Given the description of an element on the screen output the (x, y) to click on. 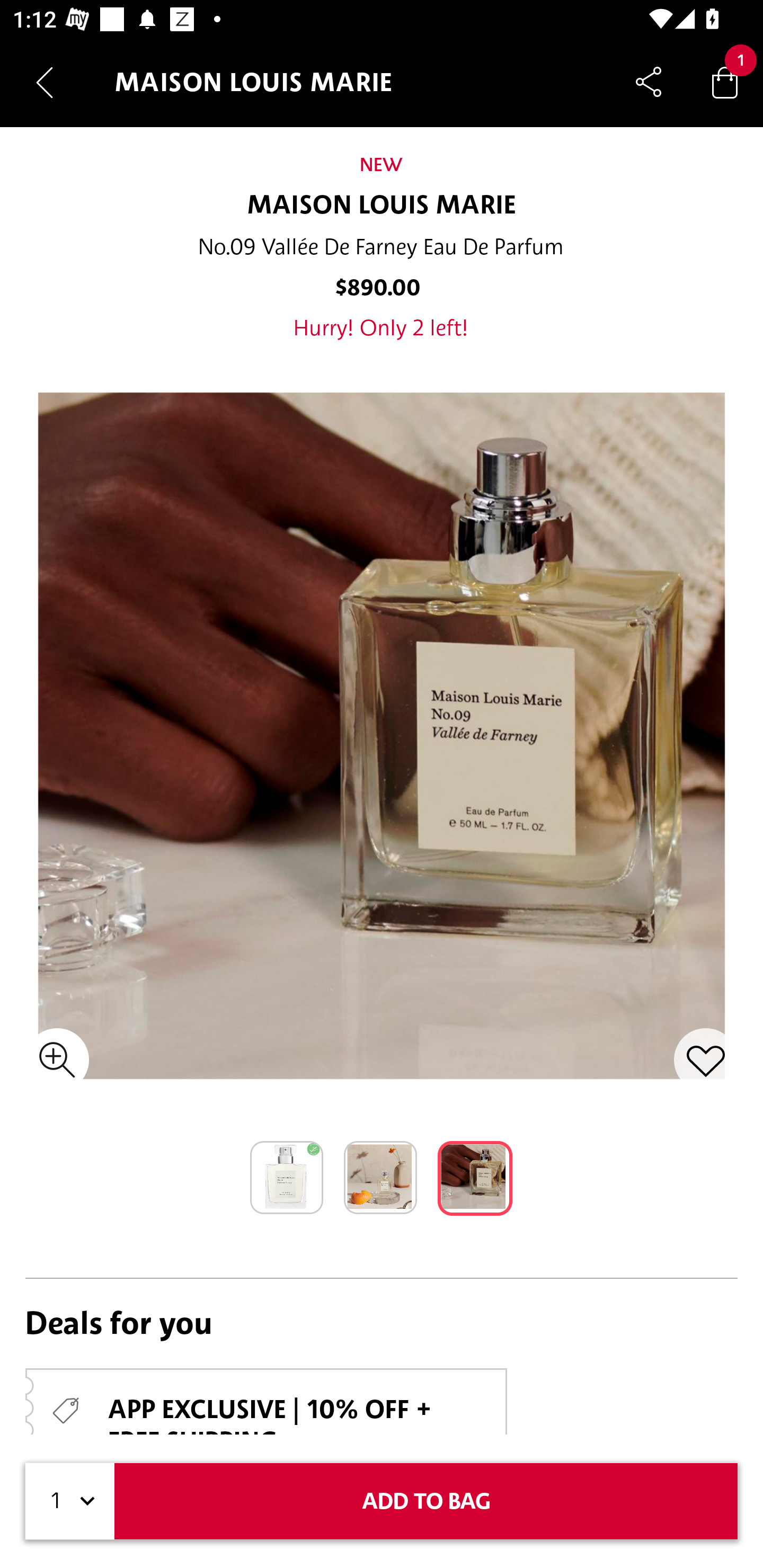
Navigate up (44, 82)
Share (648, 81)
Bag (724, 81)
MAISON LOUIS MARIE (381, 205)
1 (69, 1500)
ADD TO BAG (425, 1500)
